Given the description of an element on the screen output the (x, y) to click on. 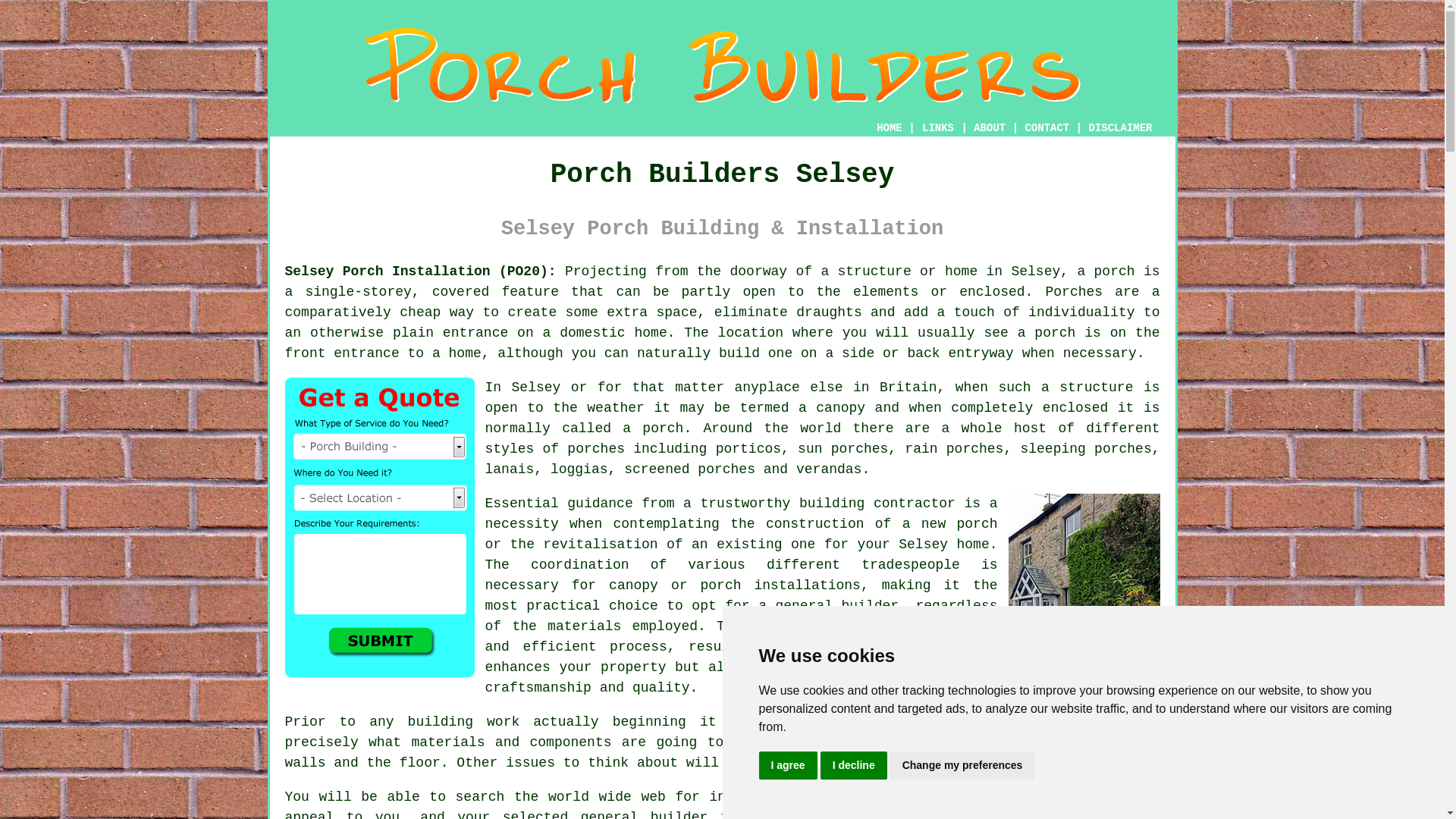
building contractor (877, 503)
I decline (853, 765)
I agree (787, 765)
verandas (828, 468)
a porch (836, 646)
LINKS (938, 128)
Change my preferences (962, 765)
screened porches (689, 468)
Porch Builders Selsey (722, 65)
HOME (889, 128)
